Given the description of an element on the screen output the (x, y) to click on. 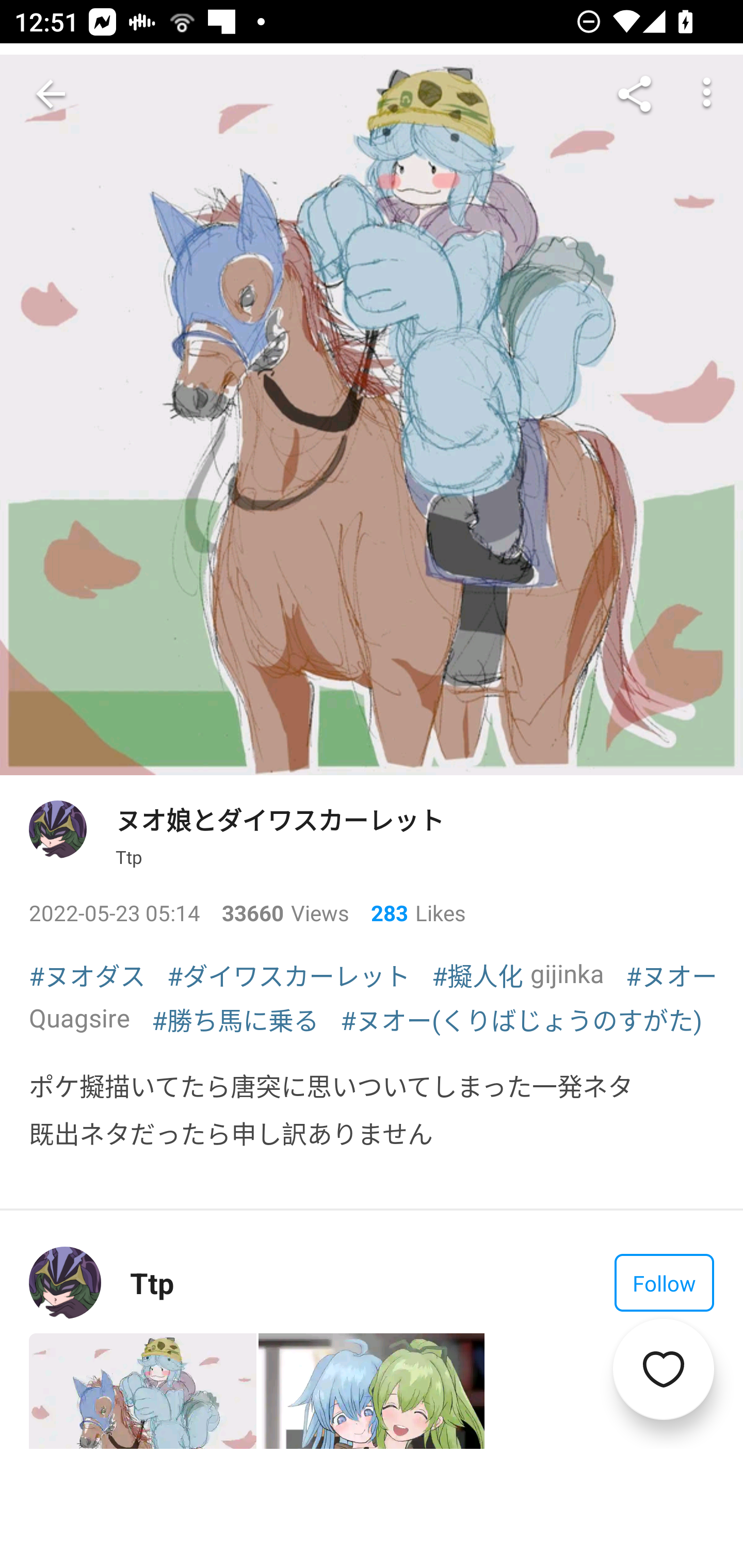
Share (634, 93)
More options (706, 93)
Ttp (128, 856)
283 (382, 912)
#ヌオダス (86, 975)
#ダイワスカーレット (288, 975)
#擬人化 (477, 975)
gijinka (567, 973)
#ヌオー (670, 975)
Quagsire (79, 1017)
#勝ち馬に乗る (234, 1019)
#ヌオー(くりばじょうのすがた) (521, 1019)
Follow (664, 1283)
Ttp (152, 1283)
